Given the description of an element on the screen output the (x, y) to click on. 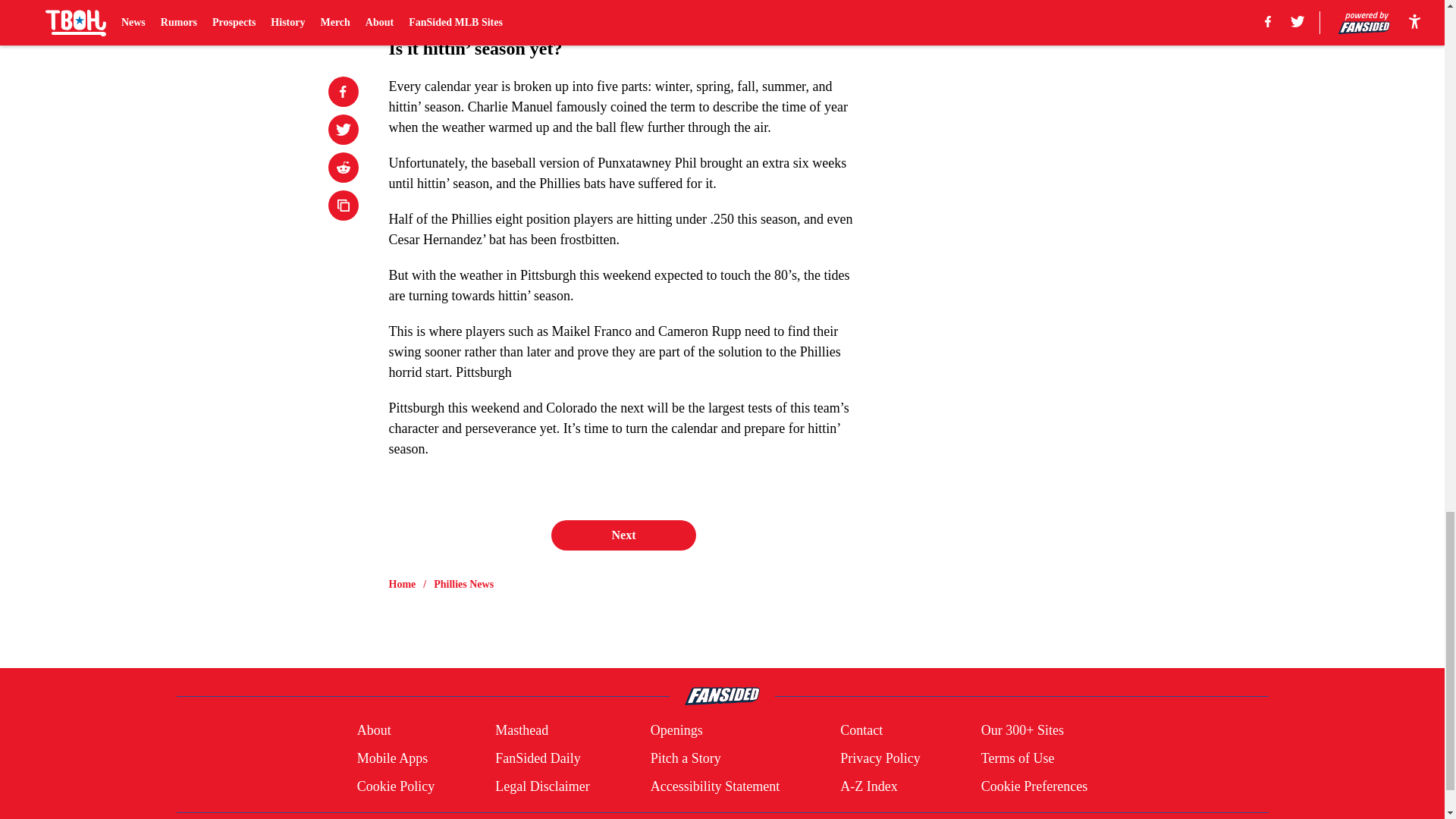
Mobile Apps (392, 758)
About (373, 730)
FanSided Daily (537, 758)
Accessibility Statement (714, 786)
Next (622, 535)
Phillies News (463, 584)
Legal Disclaimer (542, 786)
A-Z Index (868, 786)
Home (401, 584)
Privacy Policy (880, 758)
Openings (676, 730)
Pitch a Story (685, 758)
Terms of Use (1017, 758)
Masthead (521, 730)
Contact (861, 730)
